Given the description of an element on the screen output the (x, y) to click on. 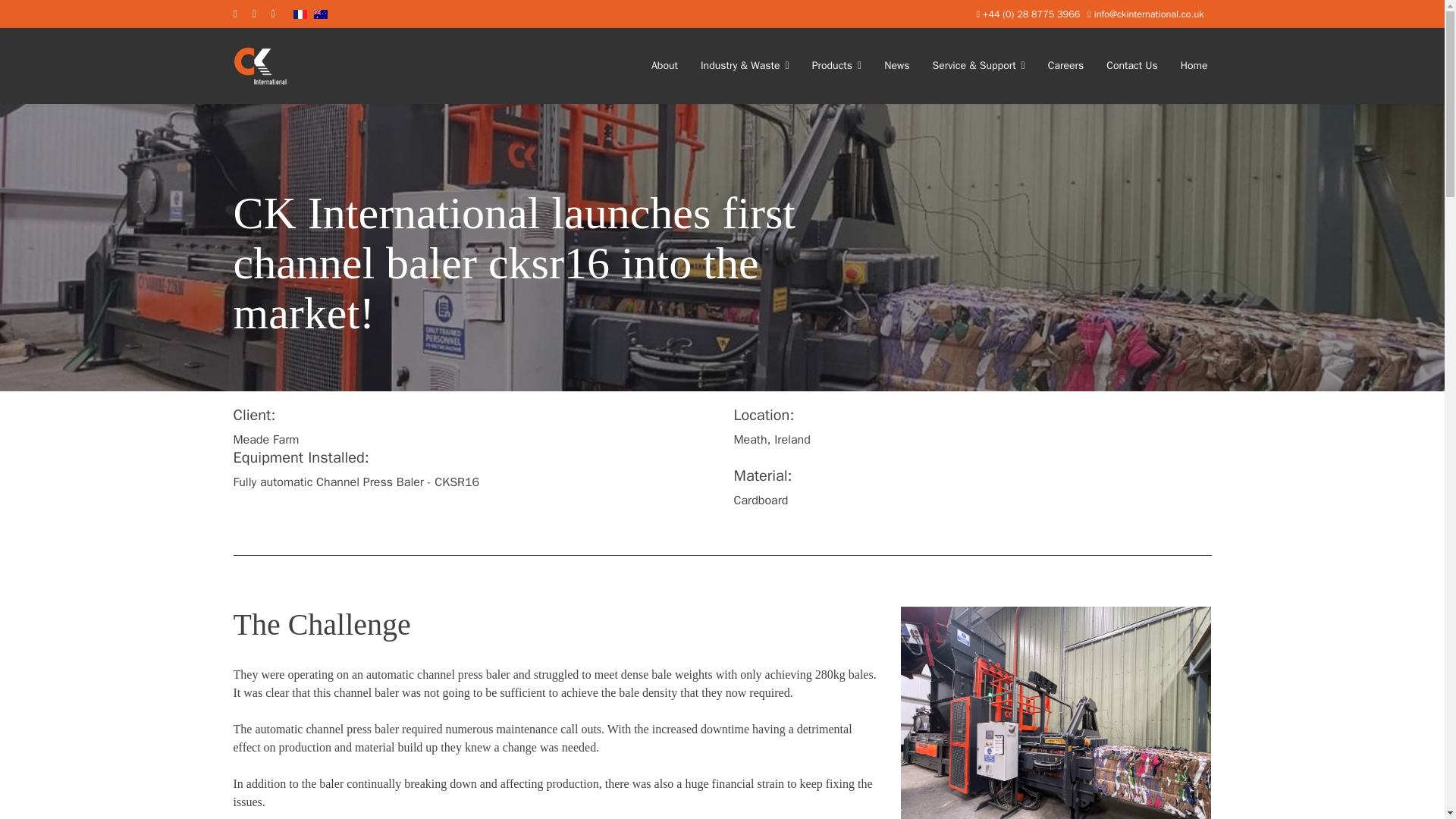
Products (836, 65)
